Given the description of an element on the screen output the (x, y) to click on. 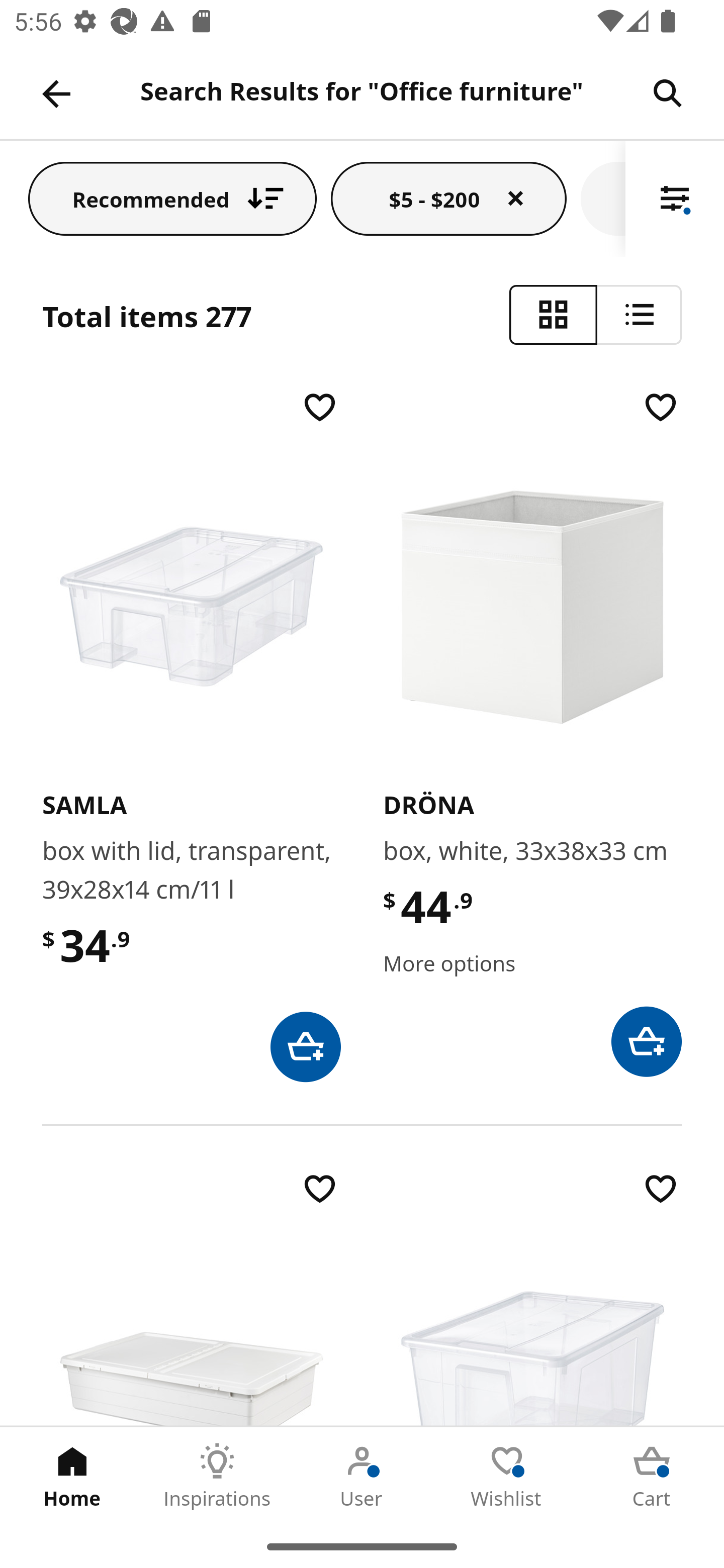
Recommended (172, 198)
$5 - $200 (448, 198)
Home
Tab 1 of 5 (72, 1476)
Inspirations
Tab 2 of 5 (216, 1476)
